Given the description of an element on the screen output the (x, y) to click on. 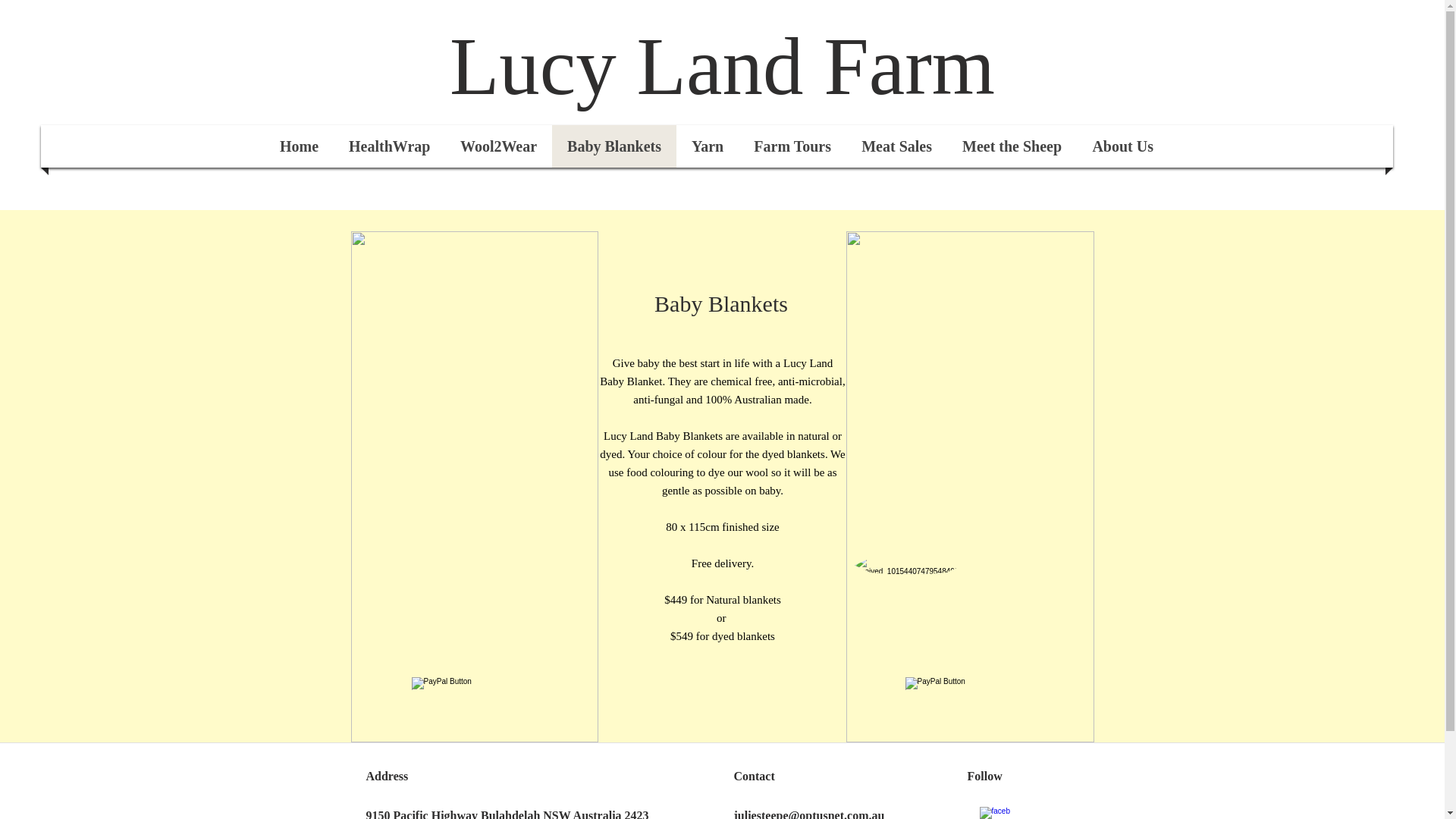
About Us Element type: text (1122, 146)
Meat Sales Element type: text (896, 146)
Baby Blankets Element type: text (613, 146)
HealthWrap Element type: text (389, 146)
Yarn Element type: text (707, 146)
Meet the Sheep Element type: text (1011, 146)
Home Element type: text (298, 146)
Farm Tours Element type: text (792, 146)
Wool2Wear Element type: text (498, 146)
